Given the description of an element on the screen output the (x, y) to click on. 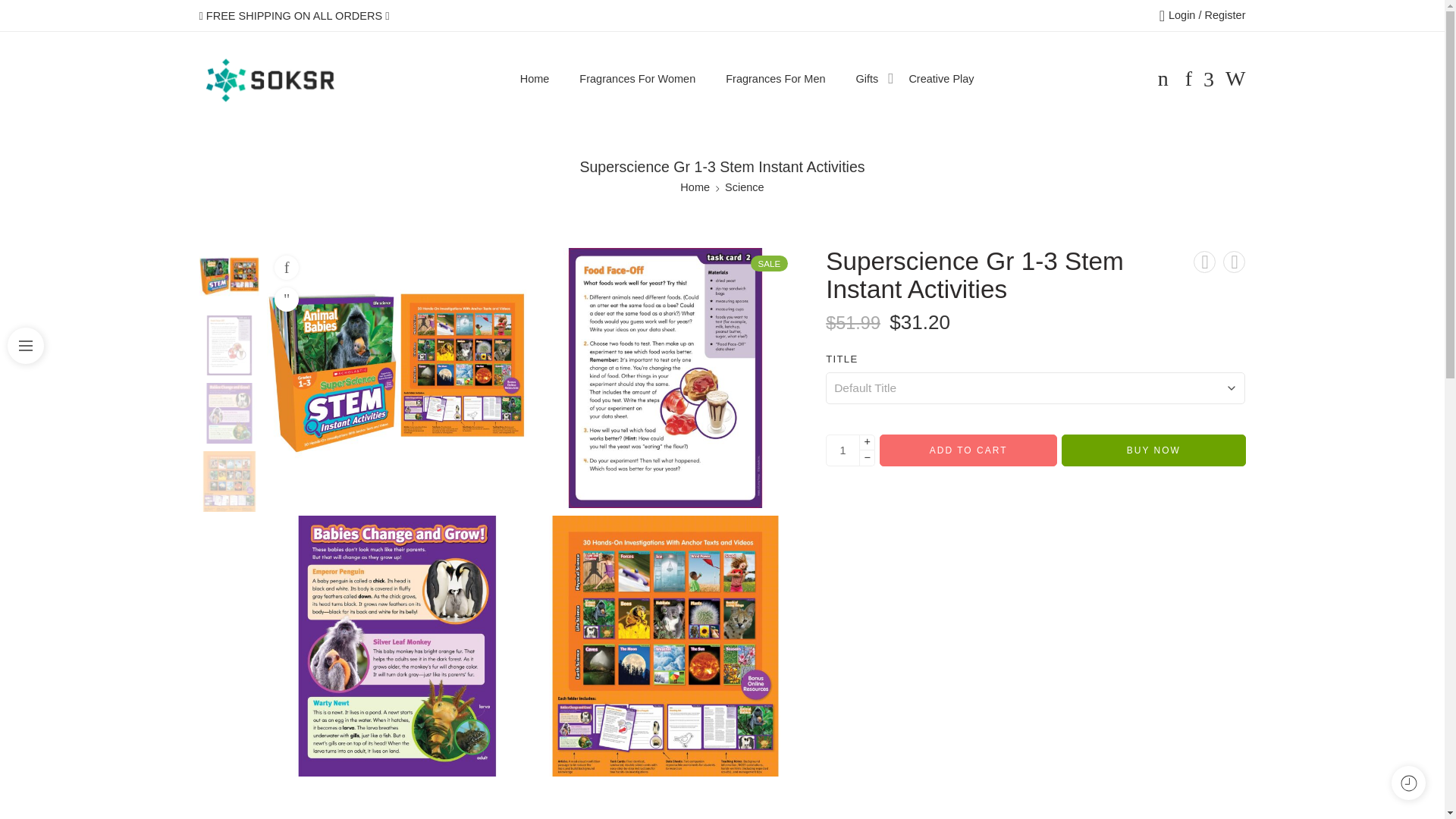
Fragrances For Men (775, 78)
Fragrances For Women (637, 78)
1 (842, 450)
Home (694, 187)
Search (1234, 78)
ADD TO CART (968, 450)
Science (744, 187)
Creative Play (941, 78)
Fragrances For Men (775, 78)
Creative Play (941, 78)
Cart (1163, 78)
BUY NOW (1152, 450)
SOUQBOOKS -  (269, 79)
Fragrances For Women (637, 78)
